Given the description of an element on the screen output the (x, y) to click on. 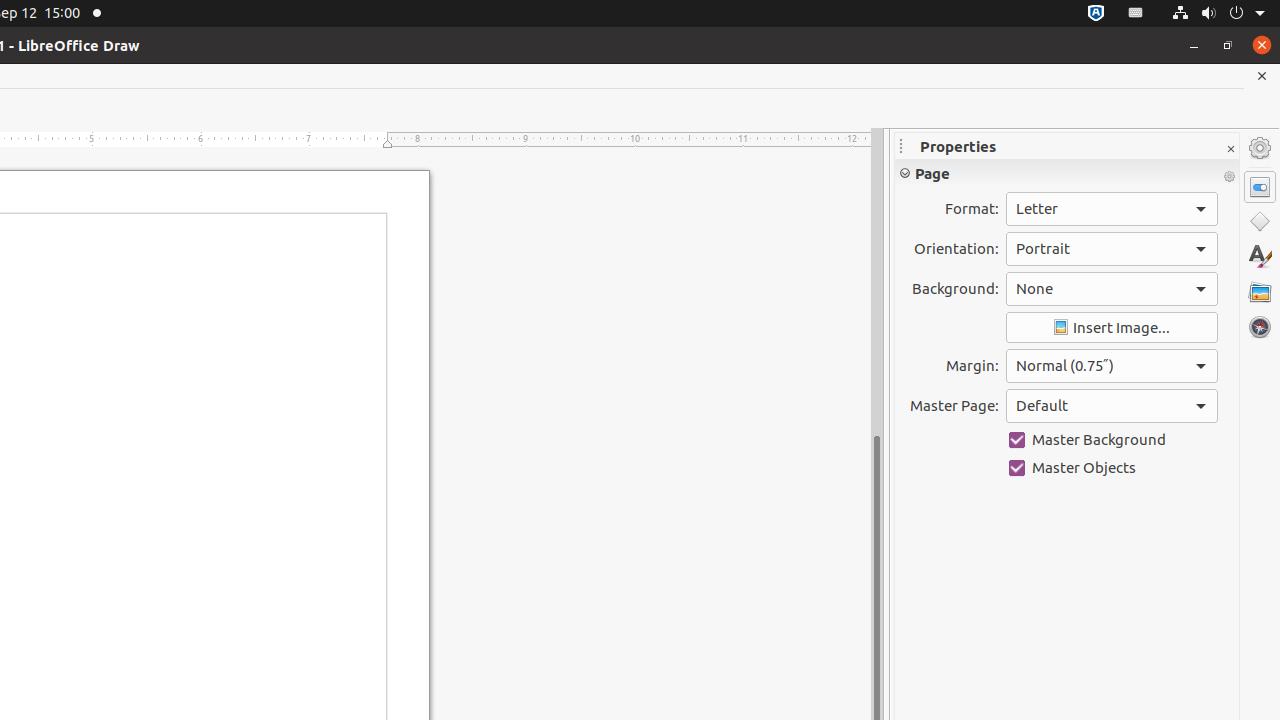
Navigator Element type: radio-button (1260, 327)
Close Sidebar Deck Element type: push-button (1230, 149)
Margin: Element type: combo-box (1112, 366)
Insert Image Element type: push-button (1112, 327)
Background: Element type: combo-box (1112, 289)
